Given the description of an element on the screen output the (x, y) to click on. 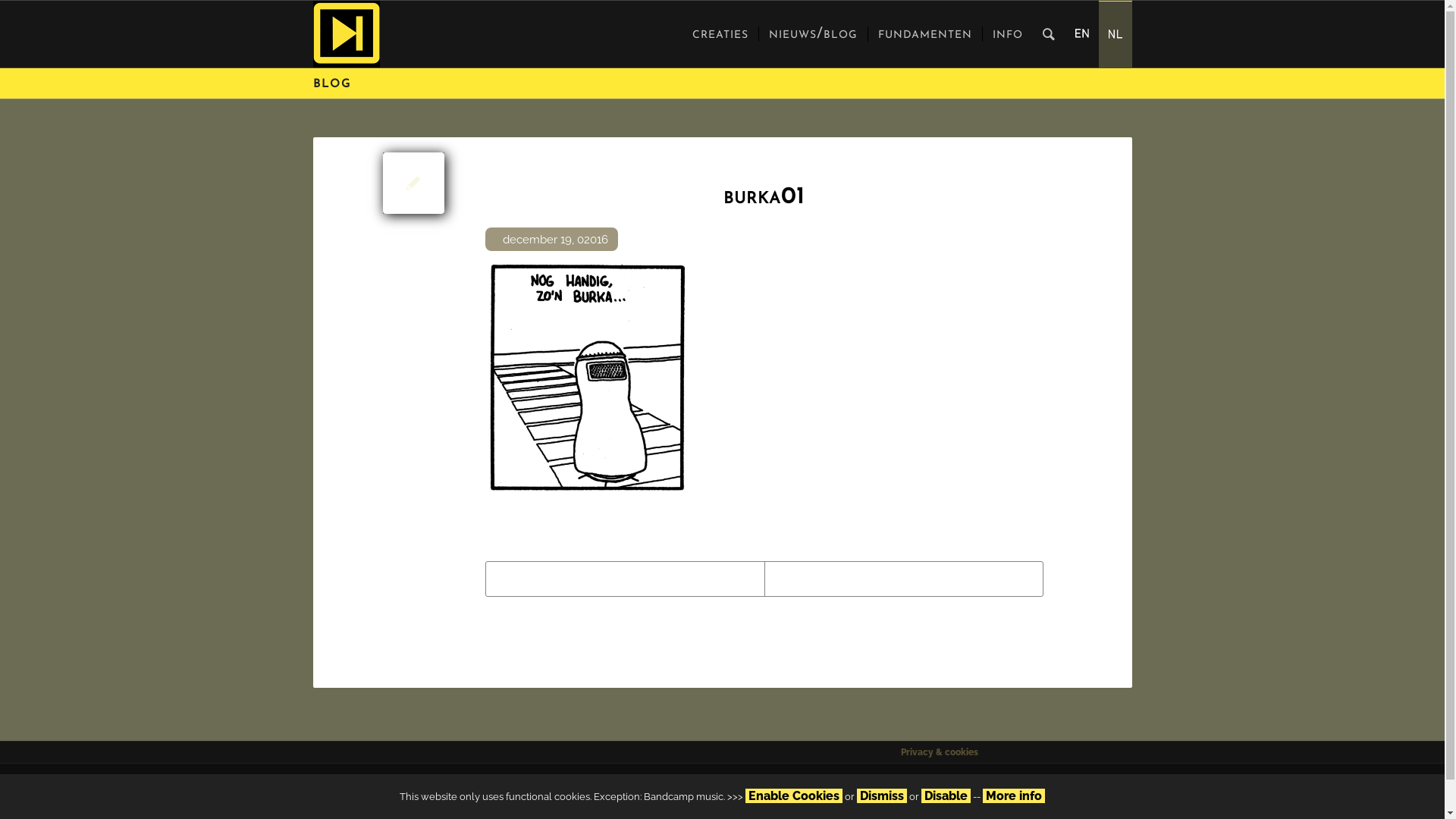
More info Element type: text (1013, 795)
BLOG Element type: text (331, 84)
Dismiss Element type: text (881, 795)
antihype176 Element type: hover (345, 33)
Disable Element type: text (945, 795)
English Element type: hover (1081, 32)
Privacy & cookies Element type: text (939, 751)
nieuws/blog Element type: text (812, 33)
creaties Element type: text (720, 33)
fundamenten Element type: text (924, 33)
Twitter Element type: hover (992, 785)
Facebook Element type: hover (1021, 785)
burka01 Element type: hover (412, 182)
Rss Element type: hover (1078, 785)
info Element type: text (1006, 33)
Enable Cookies Element type: text (793, 795)
Instagram Element type: hover (1049, 785)
Nederlands Element type: hover (1115, 33)
